Given the description of an element on the screen output the (x, y) to click on. 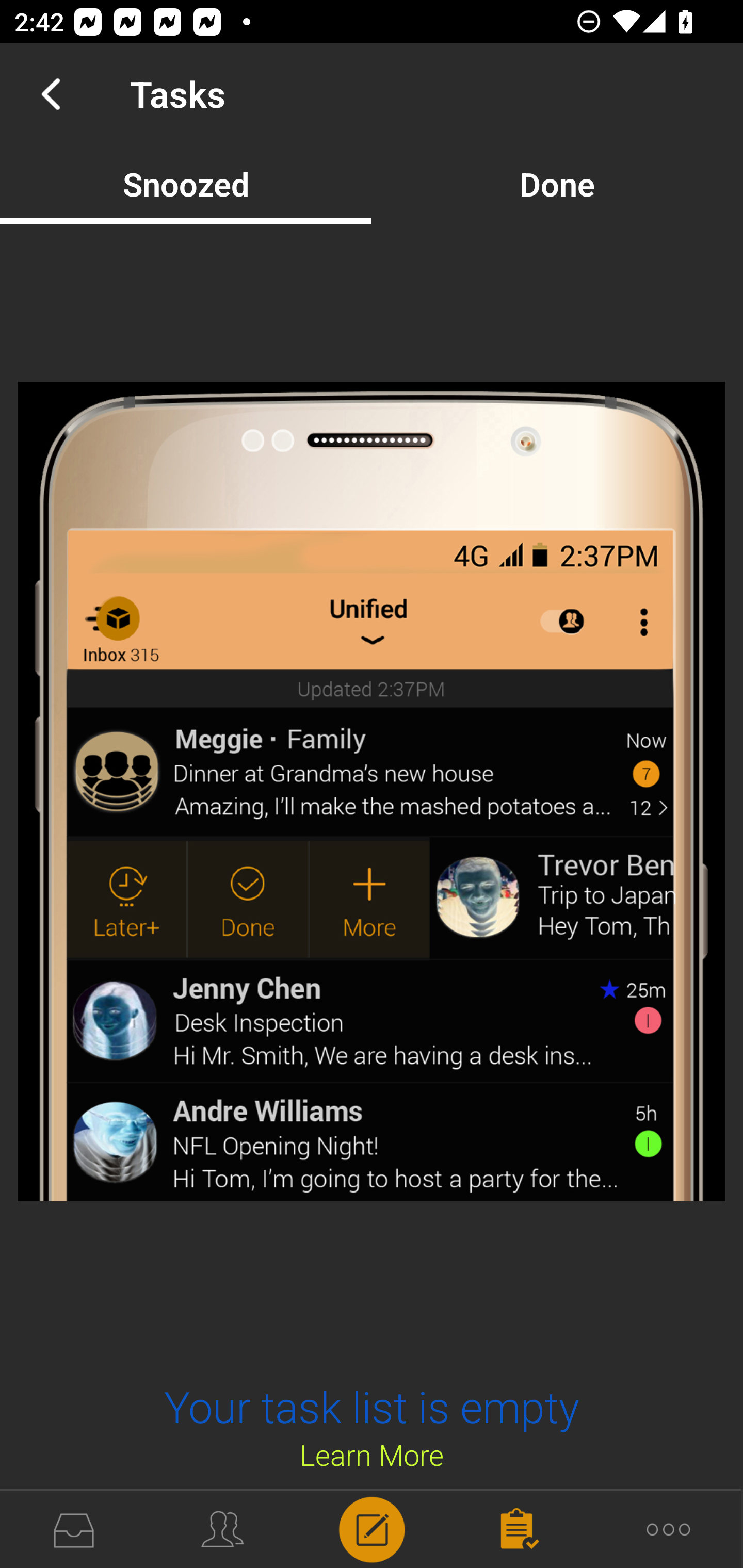
Navigate up (50, 93)
Snoozed (185, 184)
Done (557, 184)
Learn More (371, 1453)
